Given the description of an element on the screen output the (x, y) to click on. 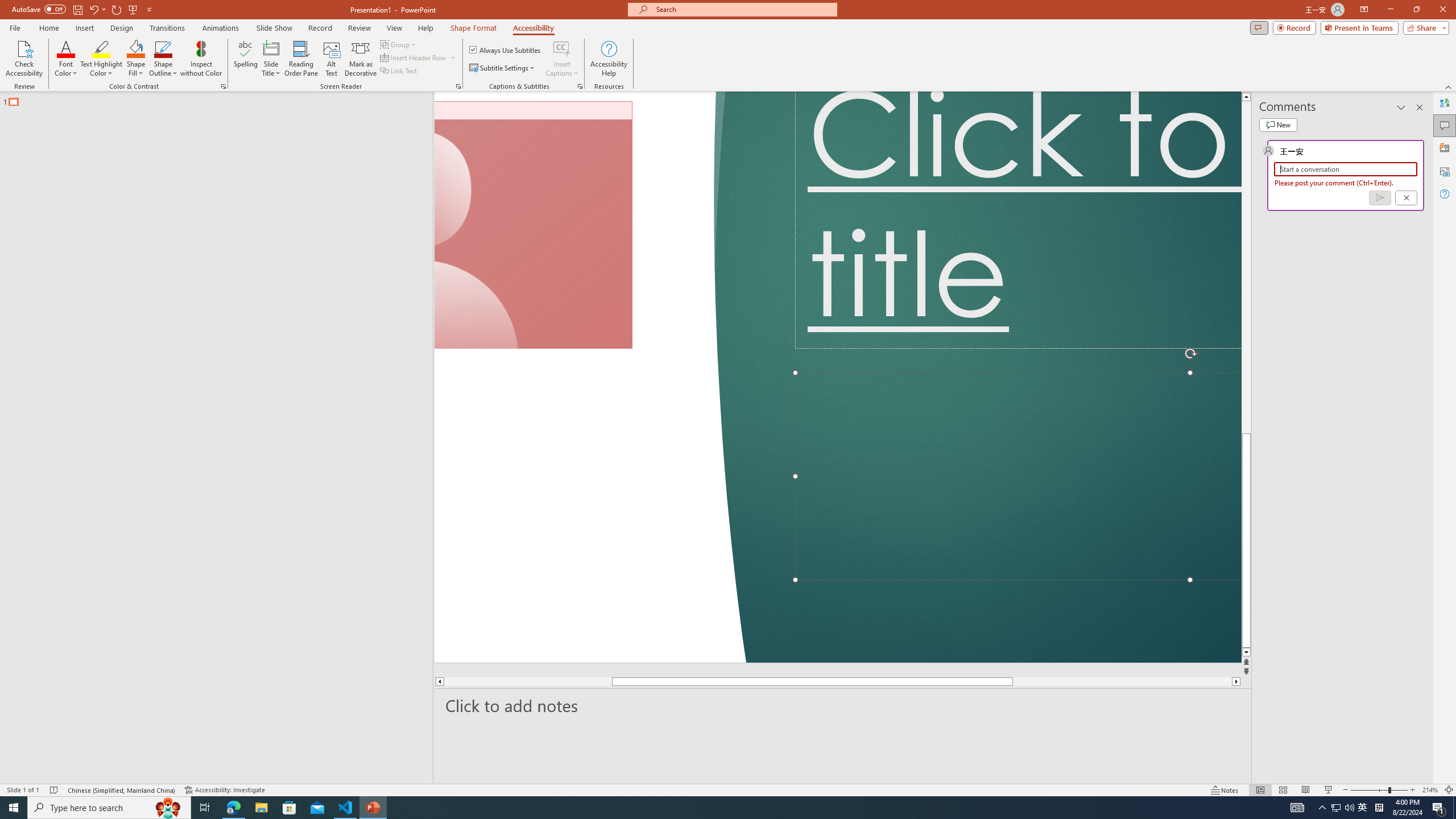
Title TextBox (1017, 219)
Screen Reader (458, 85)
Text Highlight Color Yellow (100, 48)
Color & Contrast (223, 85)
Accessibility Help (608, 58)
Font Color Red (65, 48)
Insert Captions (561, 58)
